Given the description of an element on the screen output the (x, y) to click on. 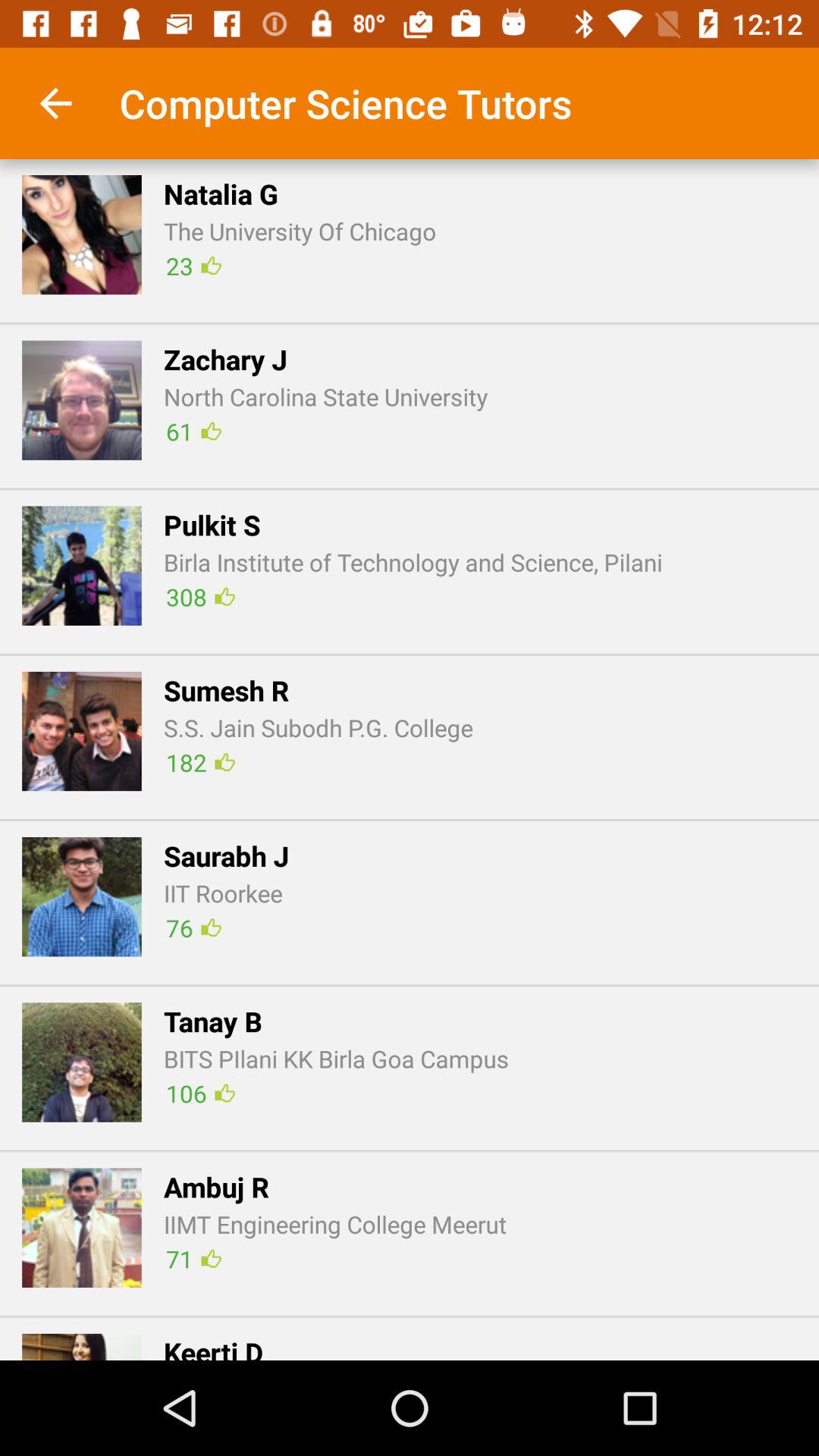
select the icon to the left of the computer science tutors (55, 103)
